Given the description of an element on the screen output the (x, y) to click on. 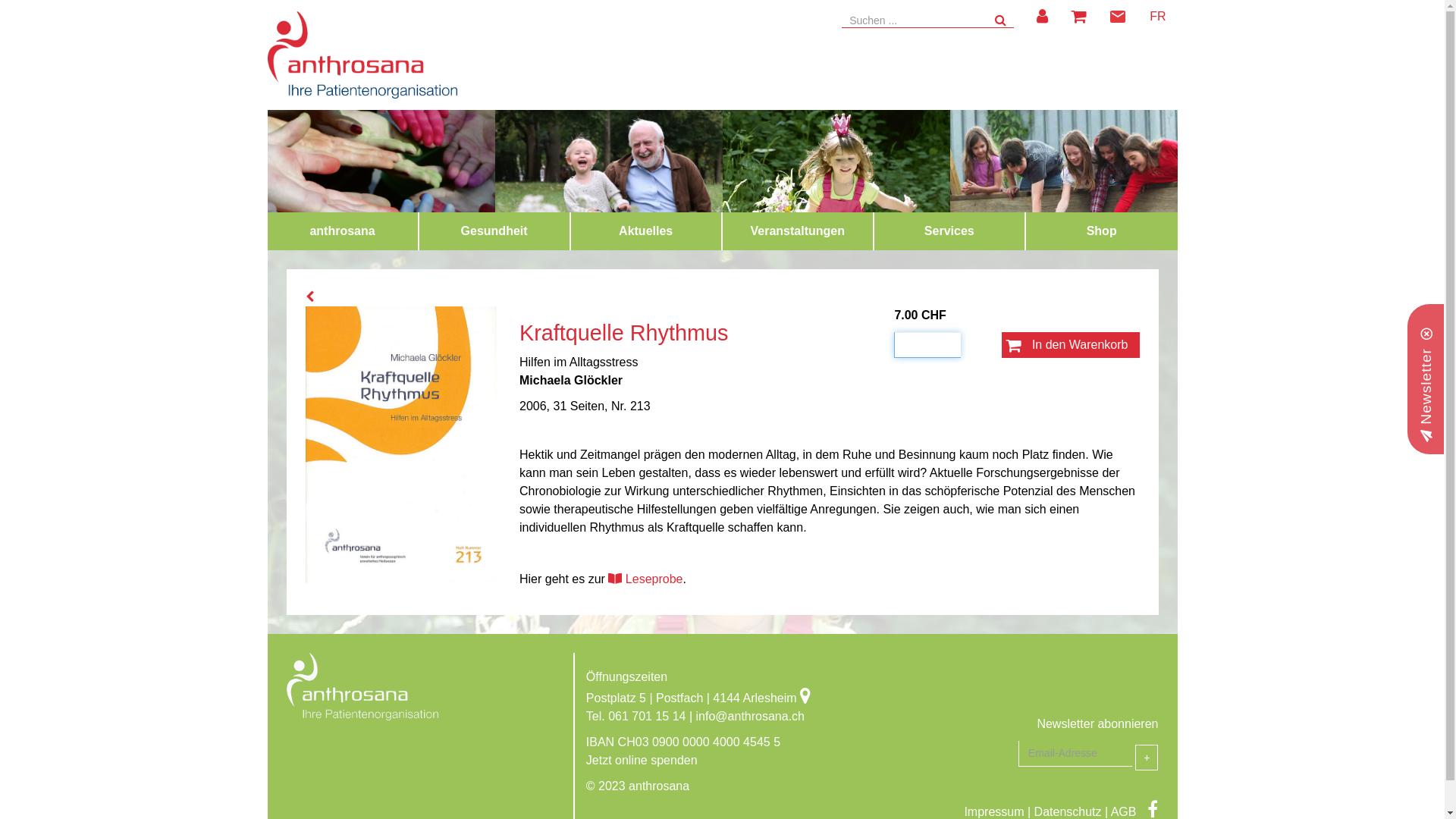
anthrosana Element type: text (341, 231)
Veranstaltungen Element type: text (797, 231)
Gesundheit Element type: text (494, 231)
Warenkorb Element type: hover (1077, 16)
Shop Element type: text (1101, 231)
Aktuelles Element type: text (645, 231)
AGB Element type: text (1123, 811)
Veranstaltungen Element type: text (797, 231)
anthrosana Element type: text (342, 231)
Jetzt online spenden Element type: text (641, 759)
info@anthrosana.ch Element type: text (750, 715)
Aktuelles Element type: text (646, 231)
Datenschutz Element type: text (1067, 811)
In den Warenkorb Element type: text (1070, 344)
Services Element type: text (949, 231)
Gesundheit Element type: text (494, 231)
FR Element type: text (1157, 15)
+ Element type: text (1146, 757)
Impressum Element type: text (993, 811)
Leseprobe Element type: text (645, 578)
Kundenkonto Element type: hover (1042, 16)
Services Element type: text (949, 231)
Shop Element type: text (1101, 231)
